Given the description of an element on the screen output the (x, y) to click on. 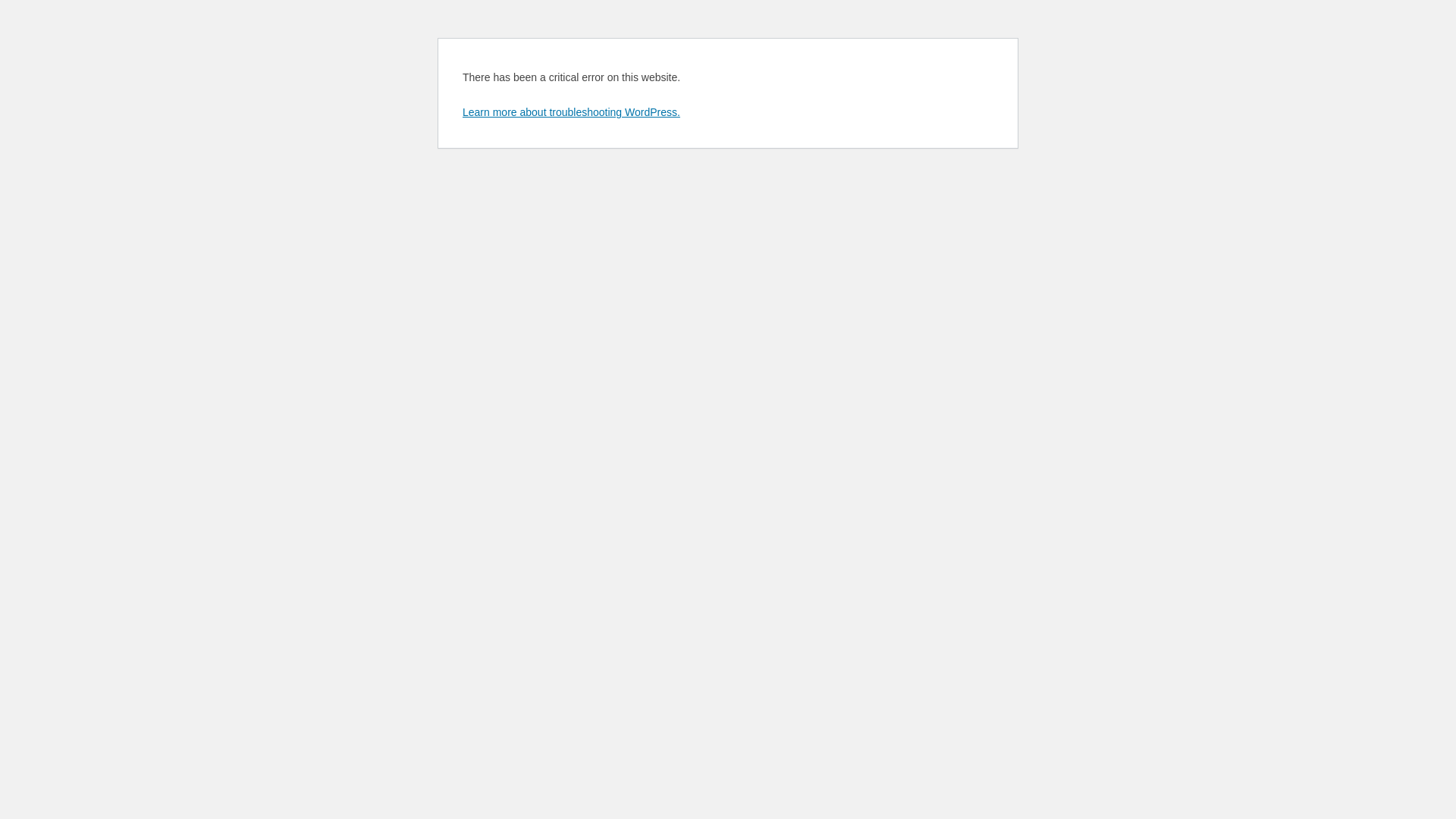
Learn more about troubleshooting WordPress. Element type: text (571, 112)
